Given the description of an element on the screen output the (x, y) to click on. 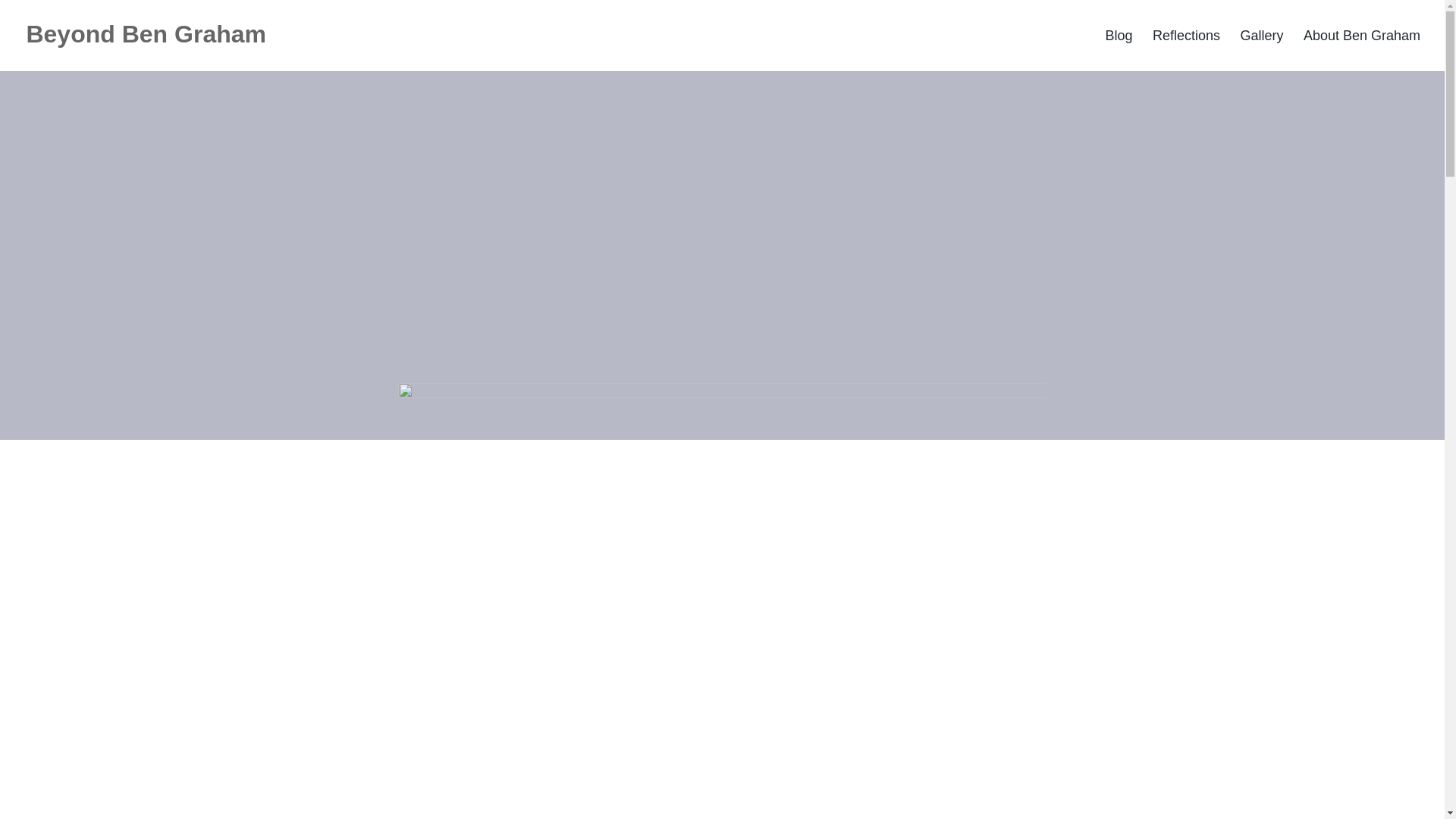
About Ben Graham (1362, 50)
Reflections (1186, 50)
Gallery (1261, 50)
